Given the description of an element on the screen output the (x, y) to click on. 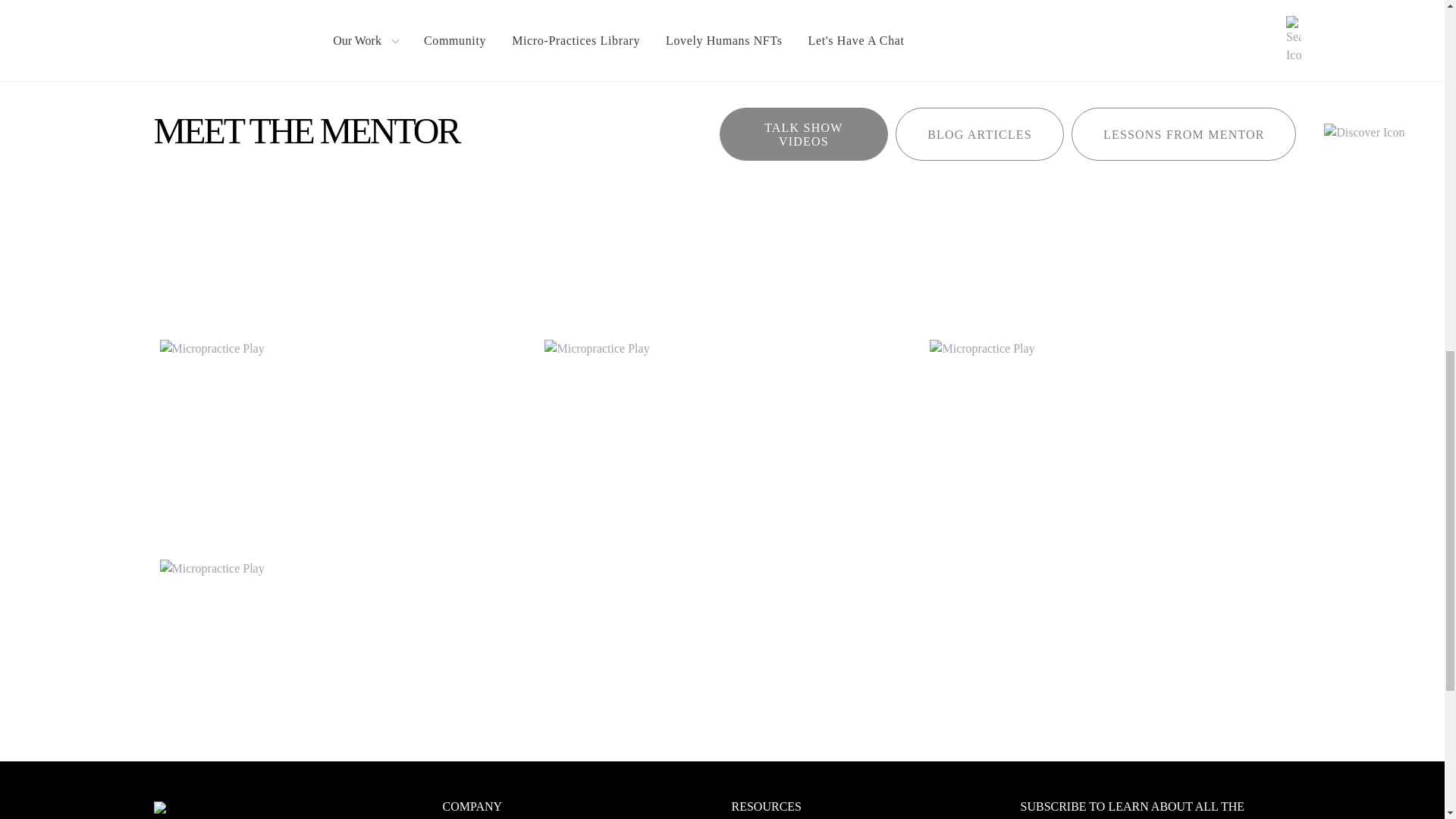
BLOG ARTICLES (979, 133)
LESSONS FROM MENTOR (1183, 133)
TALK SHOW VIDEOS (803, 133)
